Given the description of an element on the screen output the (x, y) to click on. 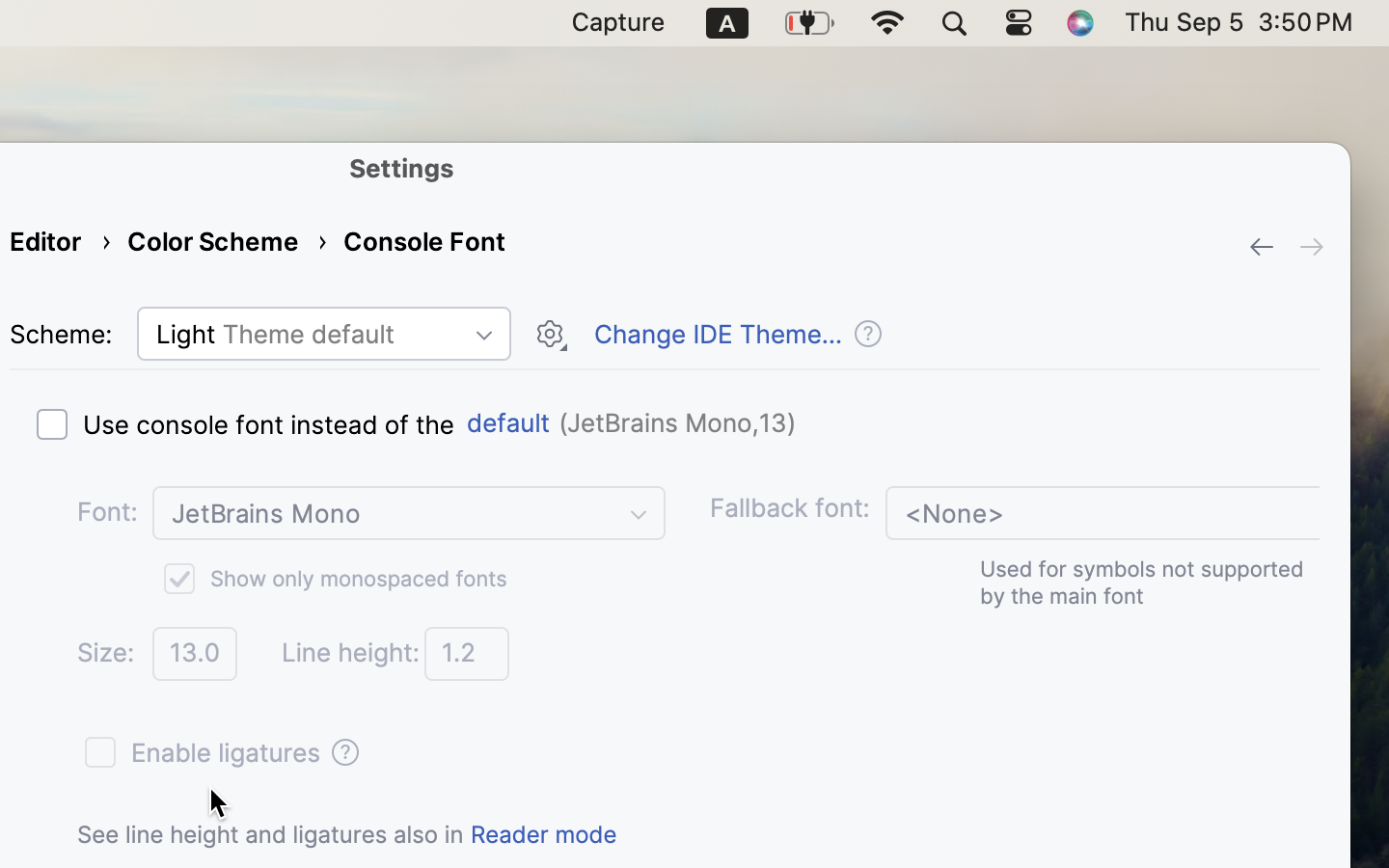
Used for symbols not supported by the main font Element type: AXStaticText (1142, 582)
Scheme: Element type: AXStaticText (60, 334)
1 Element type: AXCheckBox (331, 578)
JetBrains Mono,13 Element type: AXStaticText (677, 422)
( Element type: AXStaticText (559, 422)
